Given the description of an element on the screen output the (x, y) to click on. 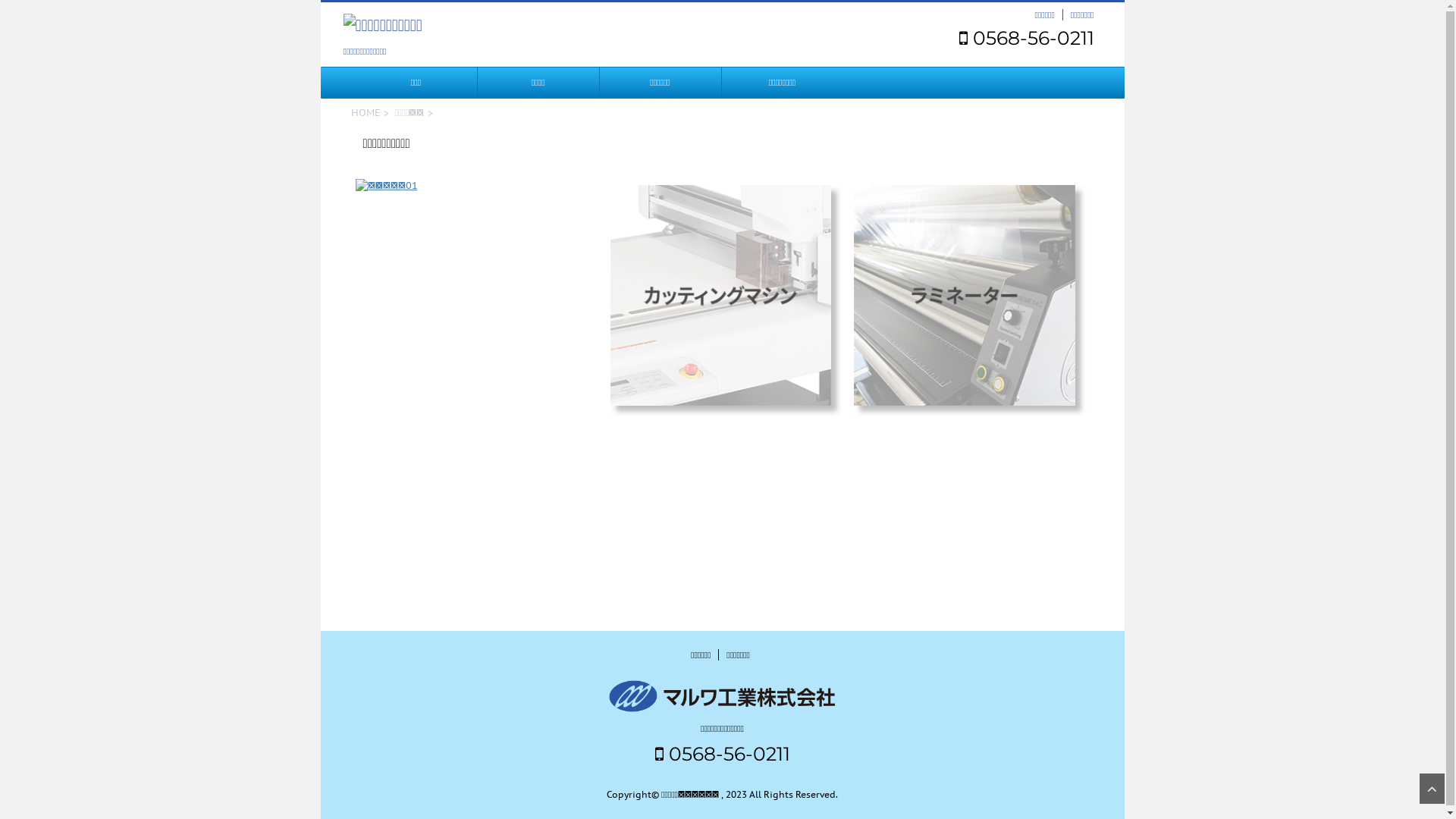
 0568-56-0211 Element type: text (722, 753)
HOME Element type: text (364, 112)
 0568-56-0211 Element type: text (1025, 37)
